Given the description of an element on the screen output the (x, y) to click on. 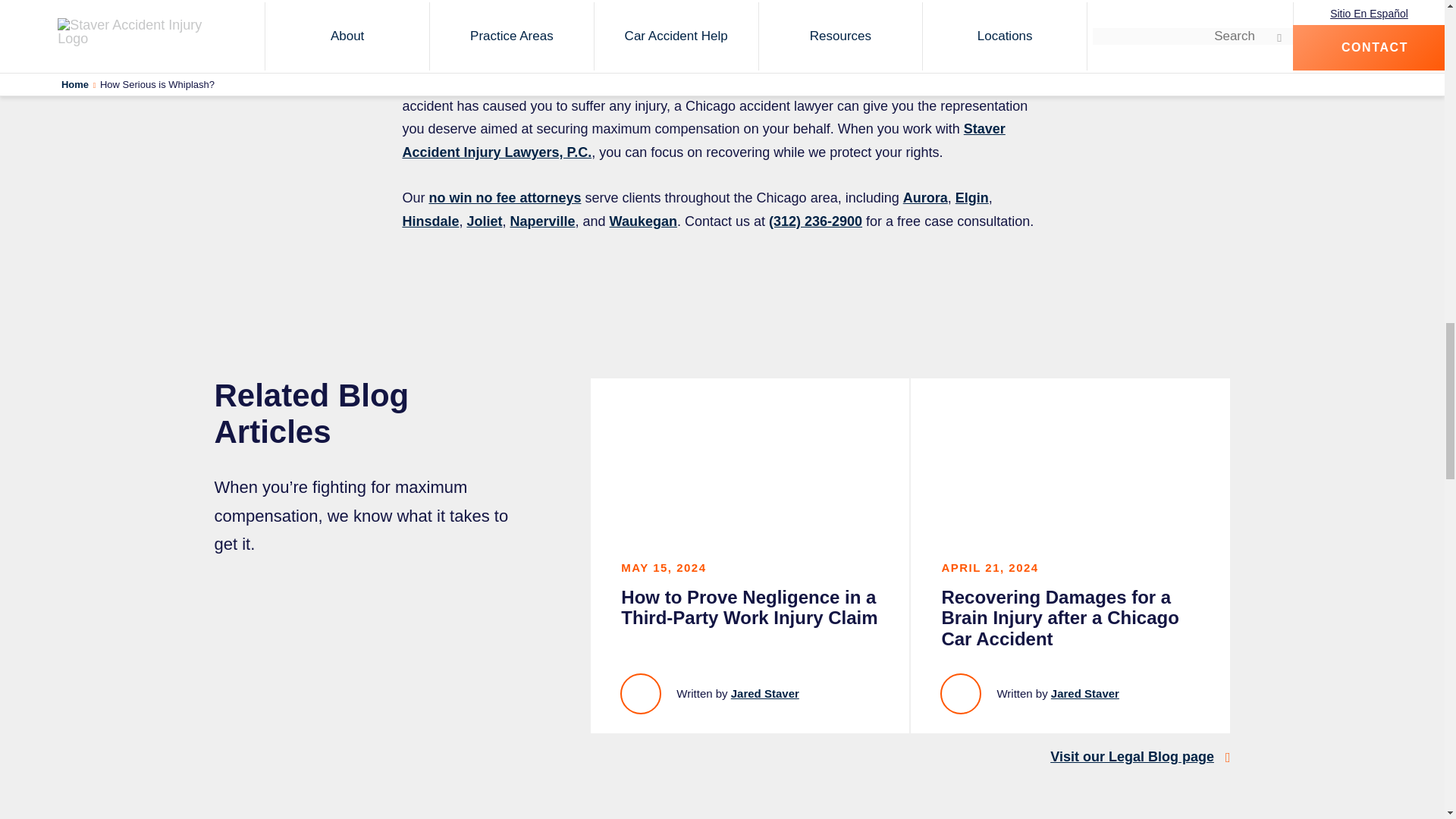
Naperville Car Accident Lawyers (542, 221)
Joliet Car Accident Attorneys (483, 221)
Aurora Car Accident Lawyers (924, 197)
Waukegan Car Accident Lawyers (643, 221)
How to Prove Negligence in a Third-Party Work Injury Claim (749, 555)
Visit our Legal Blog (1131, 756)
Hinsdale Car Accident Lawyers (429, 221)
Elgin Car Accident Attorneys (971, 197)
Call Staver Accident Injury Lawyers, P.C. (814, 221)
